Given the description of an element on the screen output the (x, y) to click on. 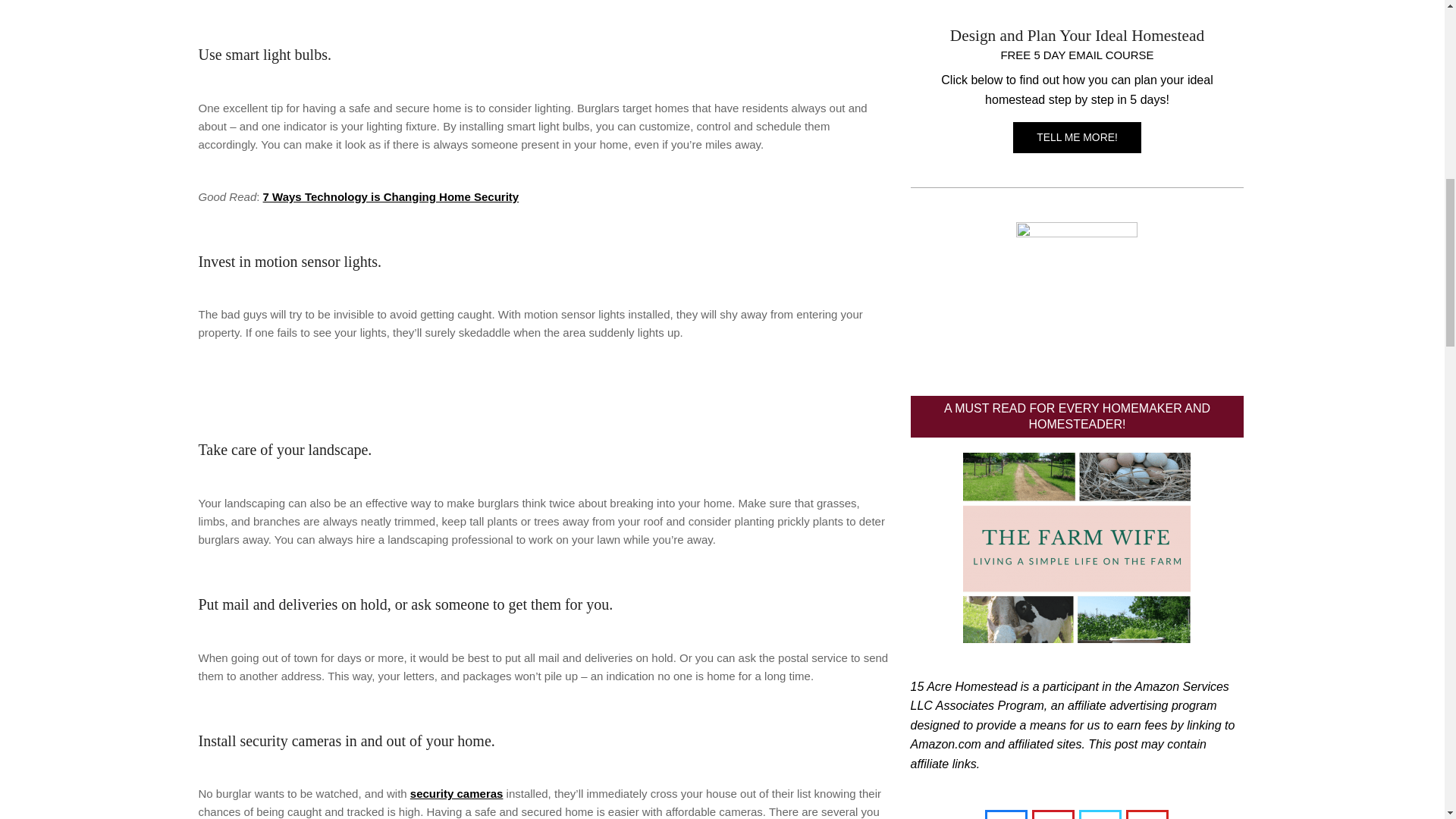
7 Ways Technology is Changing Home Security (391, 196)
security cameras (456, 793)
A must read for every homemaker and homesteader! (1076, 547)
